Given the description of an element on the screen output the (x, y) to click on. 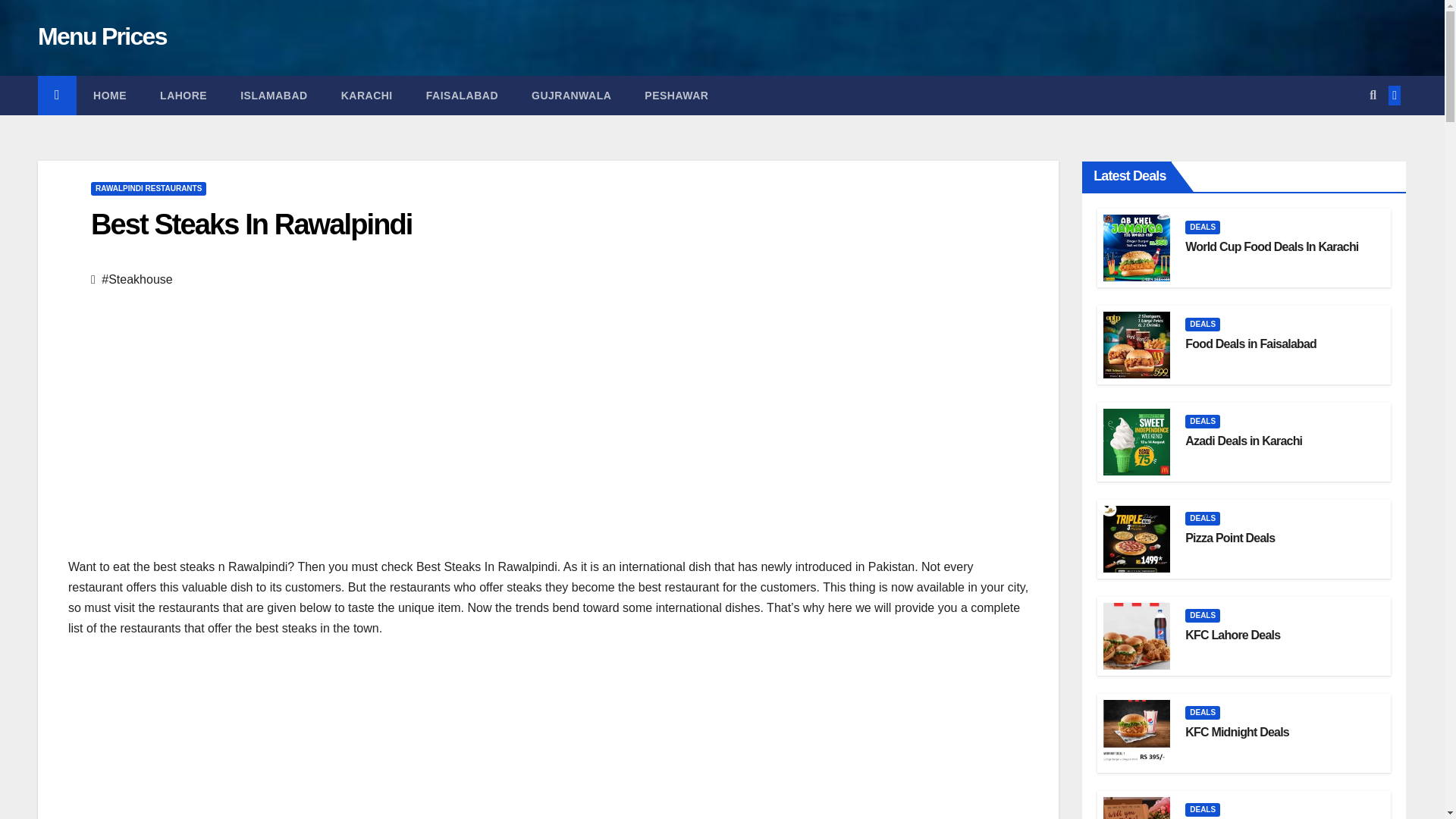
Lahore (183, 95)
Peshawar (676, 95)
HOME (109, 95)
ISLAMABAD (274, 95)
Faisalabad (462, 95)
FAISALABAD (462, 95)
Best Steaks In Rawalpindi (251, 224)
Gujranwala (571, 95)
Islamabad (274, 95)
